Given the description of an element on the screen output the (x, y) to click on. 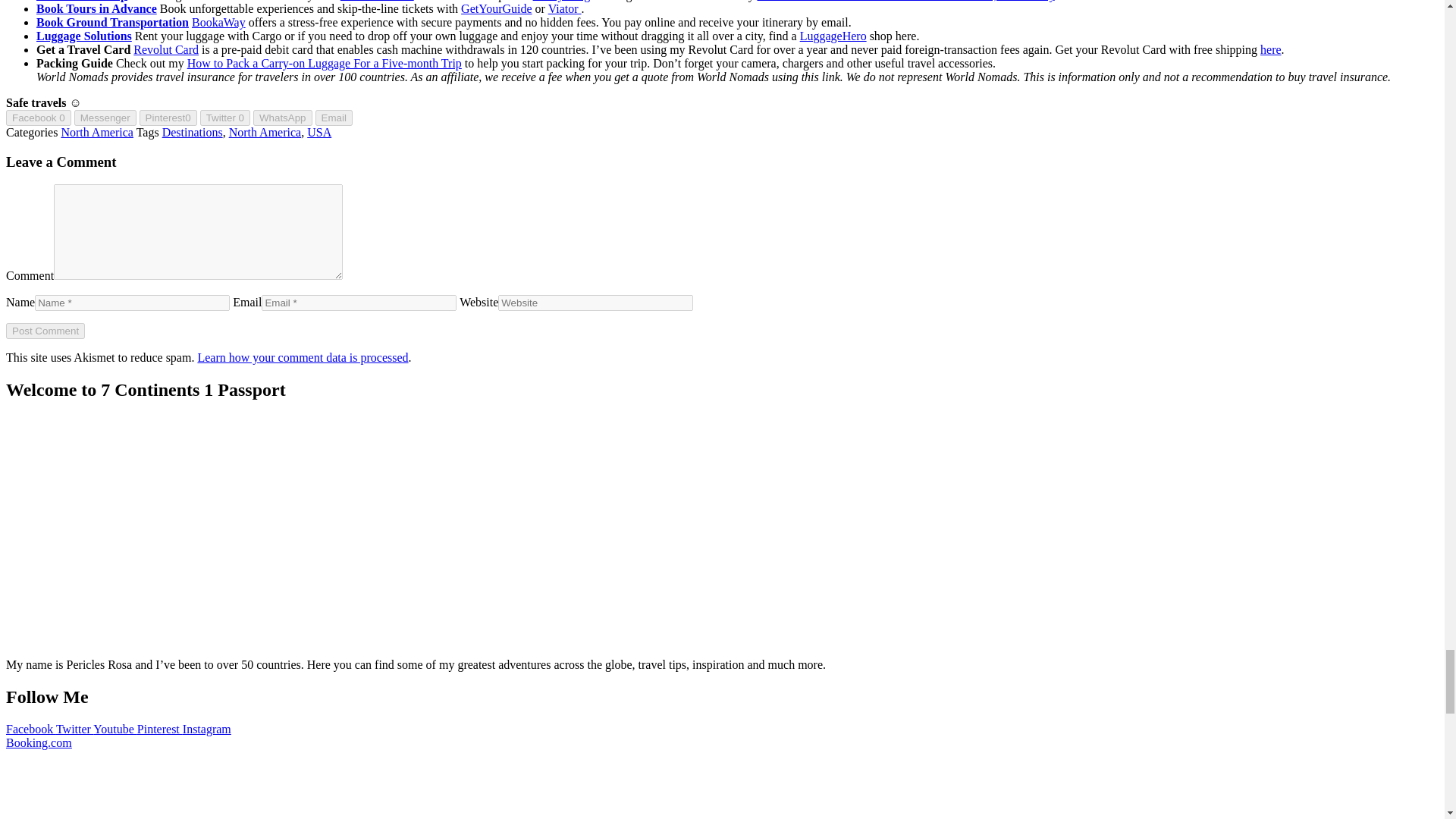
Post Comment (44, 330)
